Given the description of an element on the screen output the (x, y) to click on. 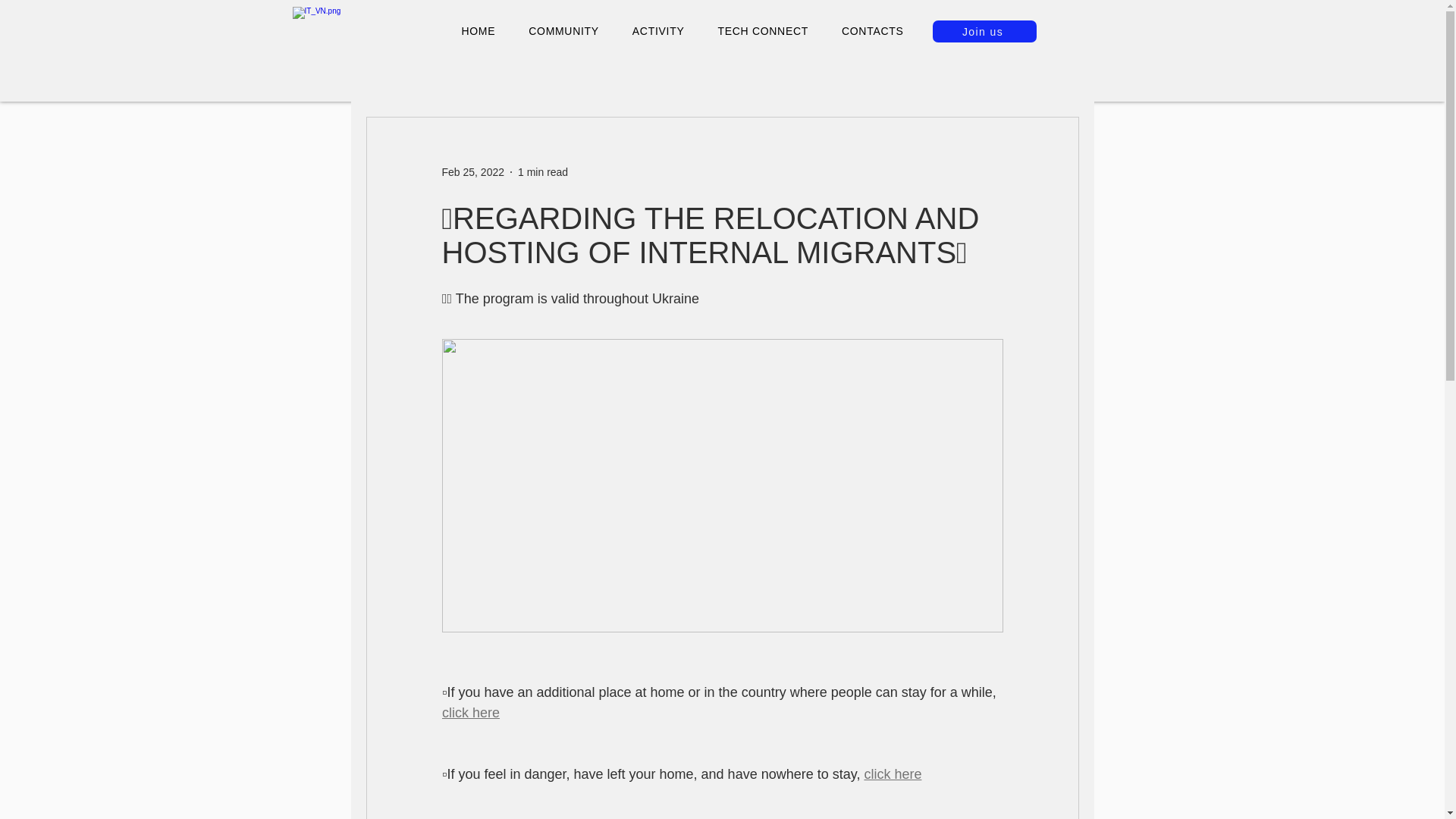
HOME (477, 31)
ACTIVITY (658, 31)
TECH CONNECT (762, 31)
click here (892, 774)
COMMUNITY (563, 31)
Feb 25, 2022 (472, 171)
1 min read (542, 171)
click here (470, 712)
Join us (984, 31)
CONTACTS (872, 31)
